Given the description of an element on the screen output the (x, y) to click on. 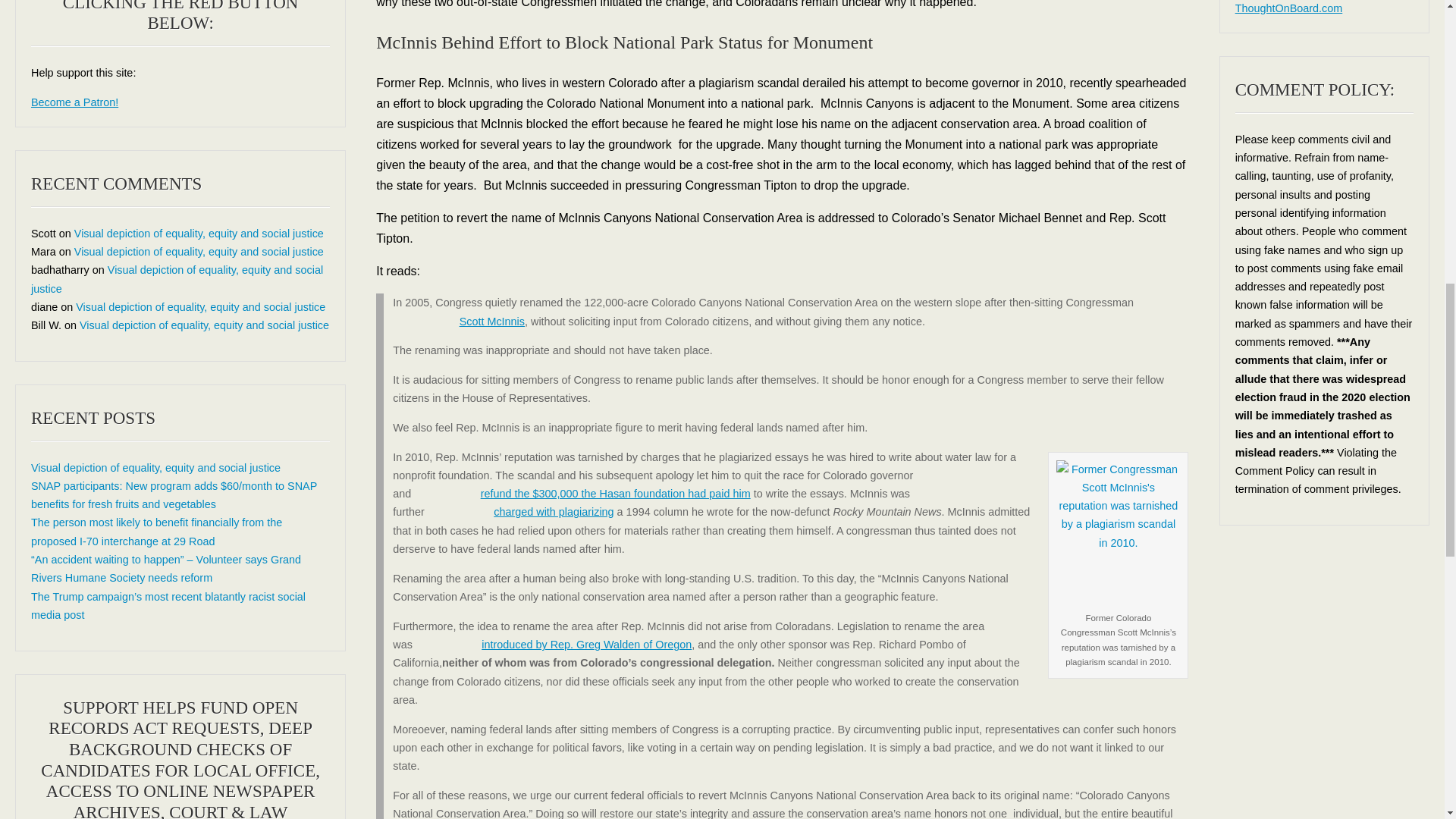
introduced by Rep. Greg Walden of Oregon (552, 644)
charged with plagiarizing (521, 511)
Scott McInnis (458, 321)
